Given the description of an element on the screen output the (x, y) to click on. 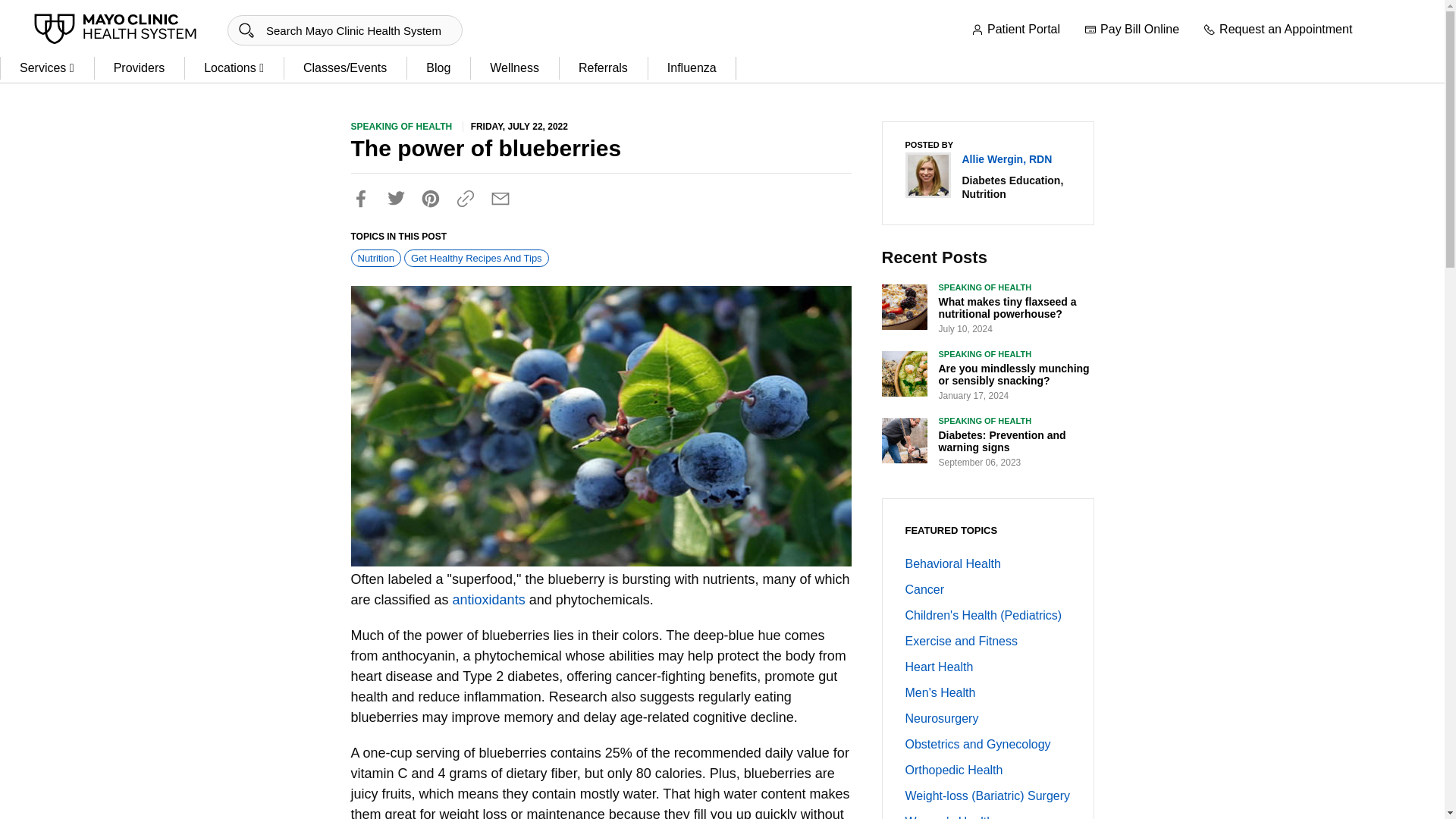
Patient Portal (1015, 30)
Pay Bill Online (1131, 30)
Opens in new window. (488, 599)
Providers (139, 68)
Request an Appointment (1278, 30)
